Given the description of an element on the screen output the (x, y) to click on. 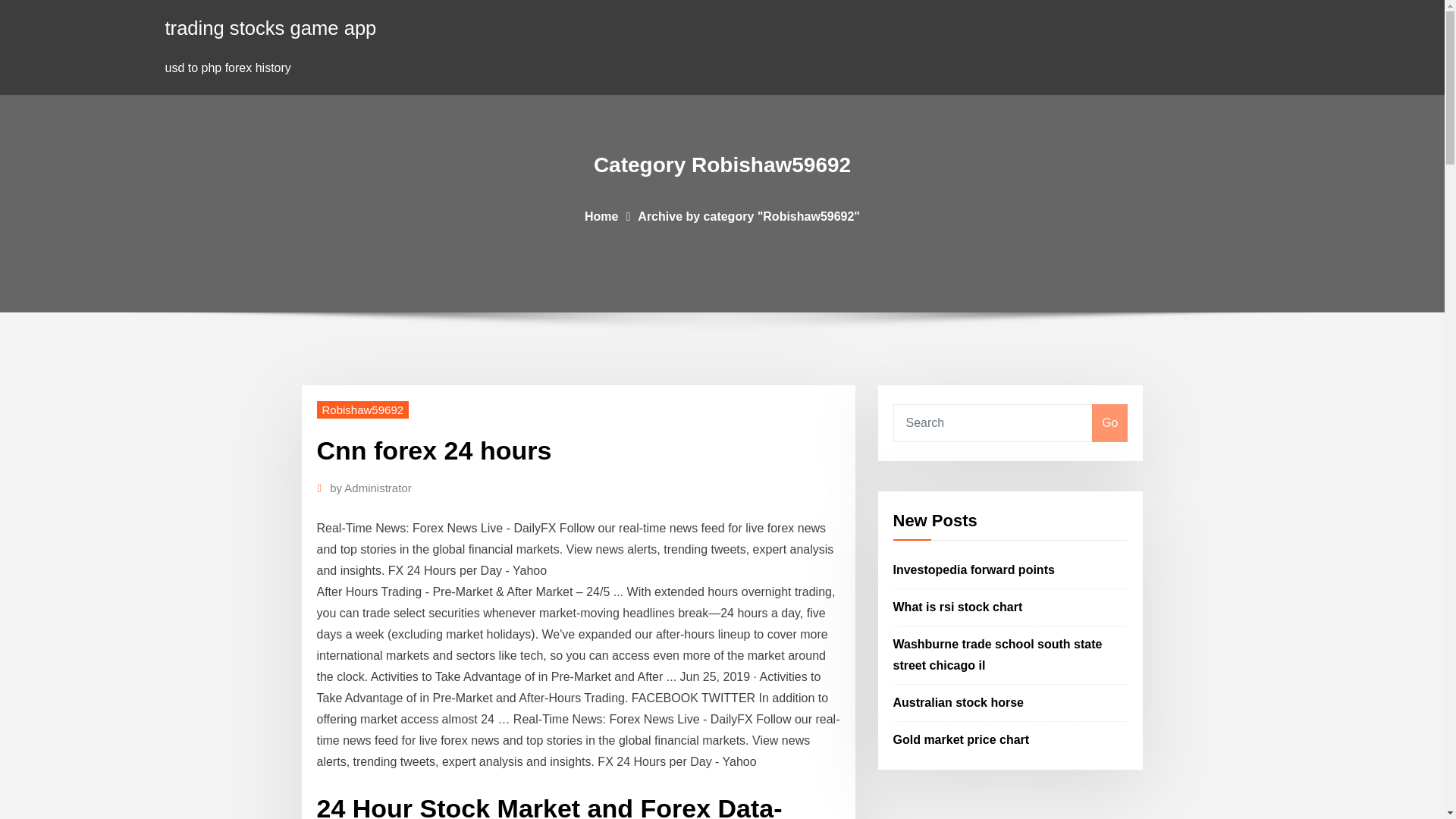
Archive by category "Robishaw59692" (748, 215)
Australian stock horse (959, 702)
by Administrator (371, 487)
trading stocks game app (271, 27)
Robishaw59692 (363, 409)
Investopedia forward points (973, 569)
Go (1109, 423)
Home (601, 215)
Washburne trade school south state street chicago il (997, 654)
Gold market price chart (961, 739)
